Given the description of an element on the screen output the (x, y) to click on. 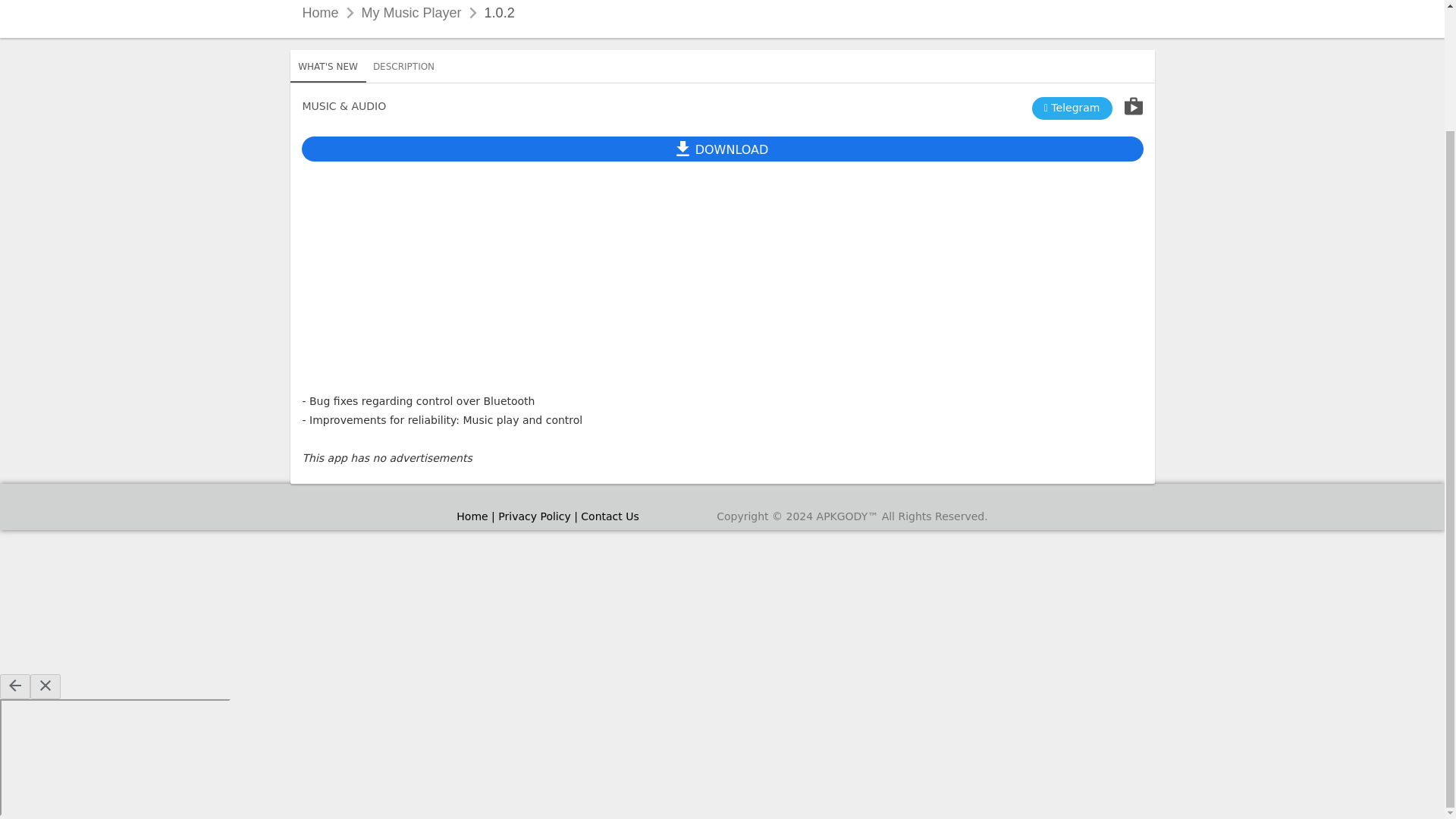
My Music Player (411, 12)
Contact Us (609, 516)
DESCRIPTION (721, 73)
Telegram (403, 65)
WHAT'S NEW (1072, 108)
Home (327, 66)
Advertisement (319, 12)
